Given the description of an element on the screen output the (x, y) to click on. 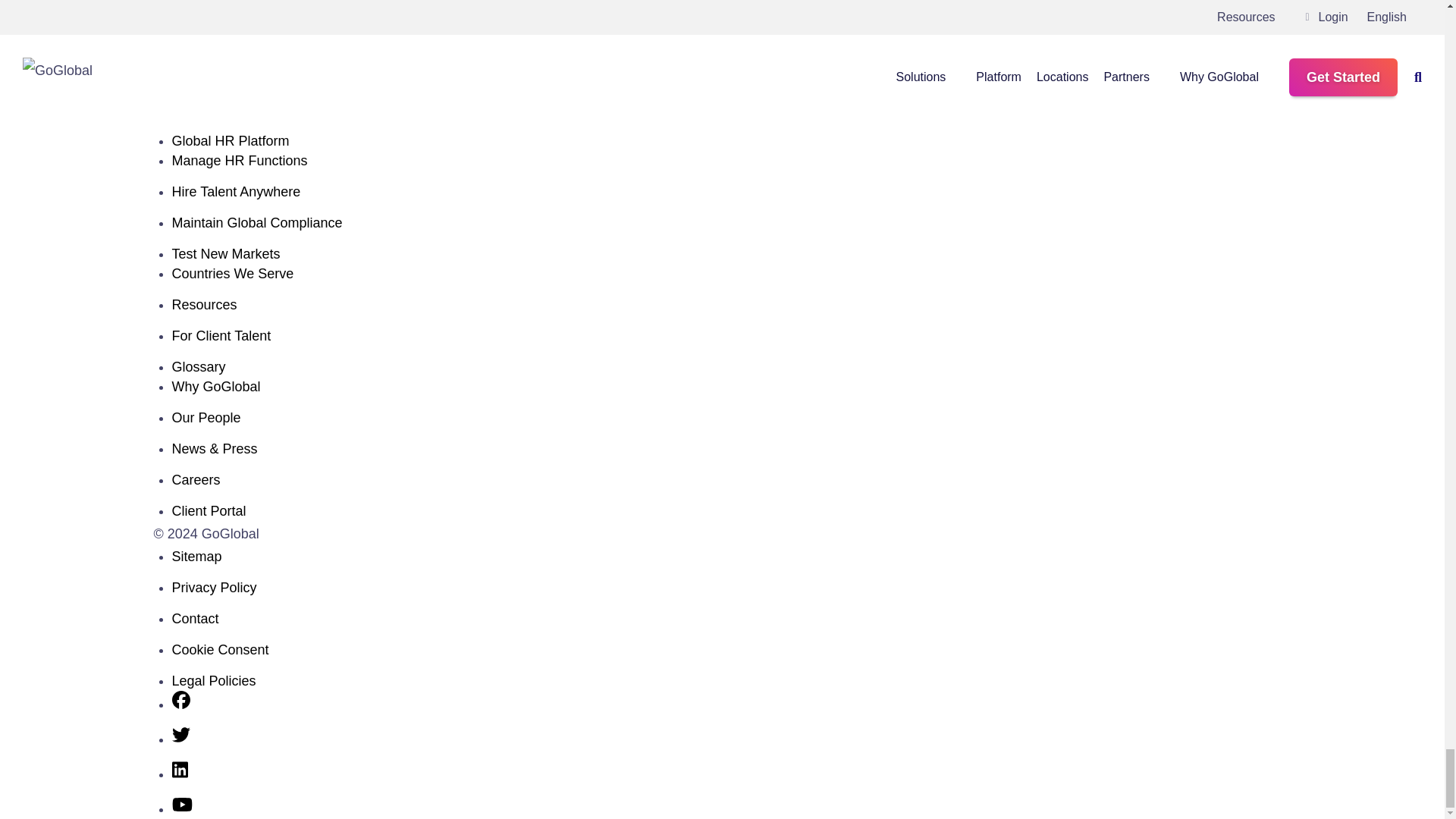
Facebook (180, 703)
Youtube Channel (181, 808)
LinkedIn (179, 774)
